Given the description of an element on the screen output the (x, y) to click on. 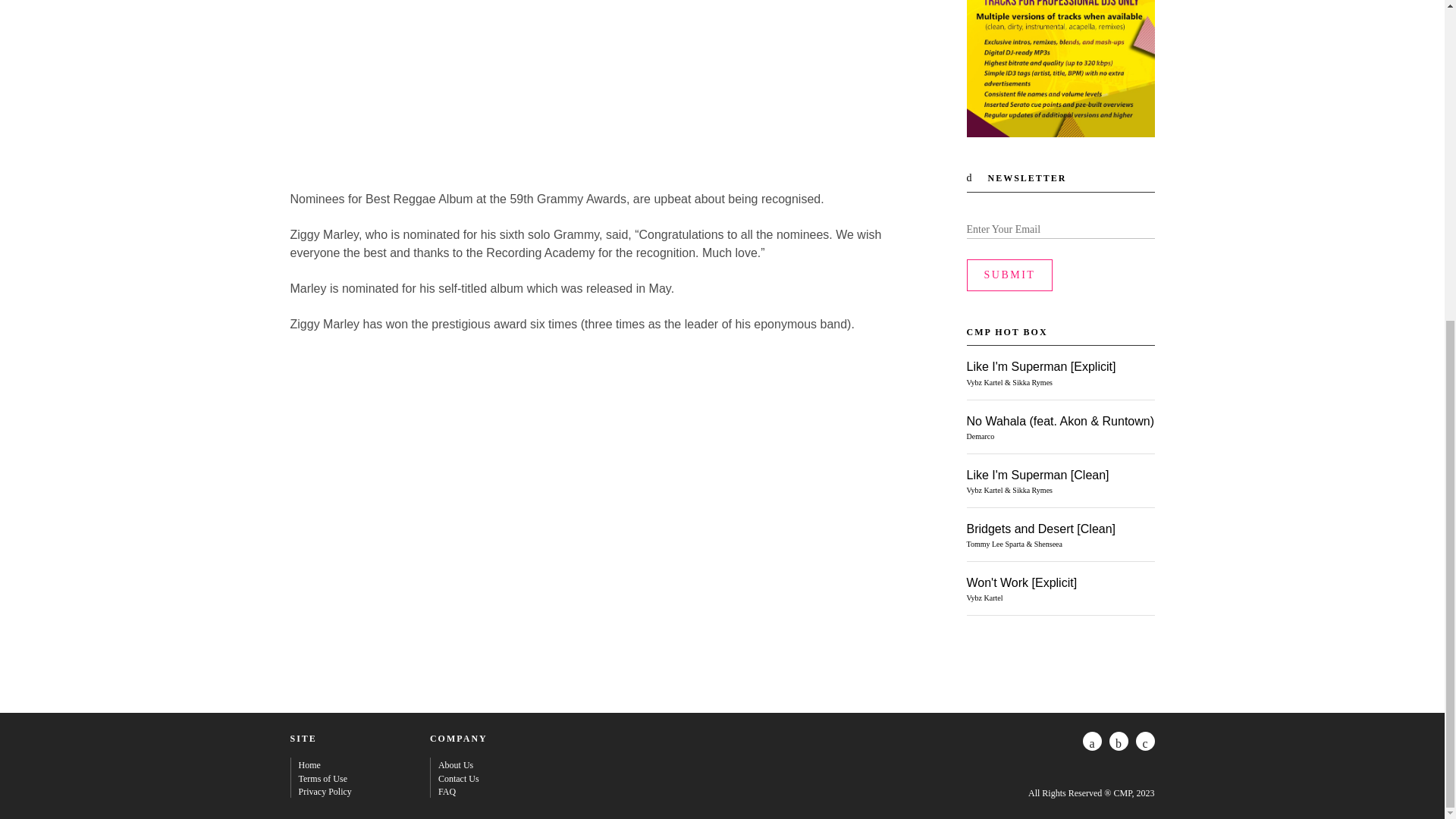
FAQ (446, 791)
Terms of Use (322, 778)
Privacy Policy (325, 791)
Submit (1009, 275)
Home (309, 765)
Submit (1009, 275)
About Us (455, 765)
Contact Us (458, 778)
